Given the description of an element on the screen output the (x, y) to click on. 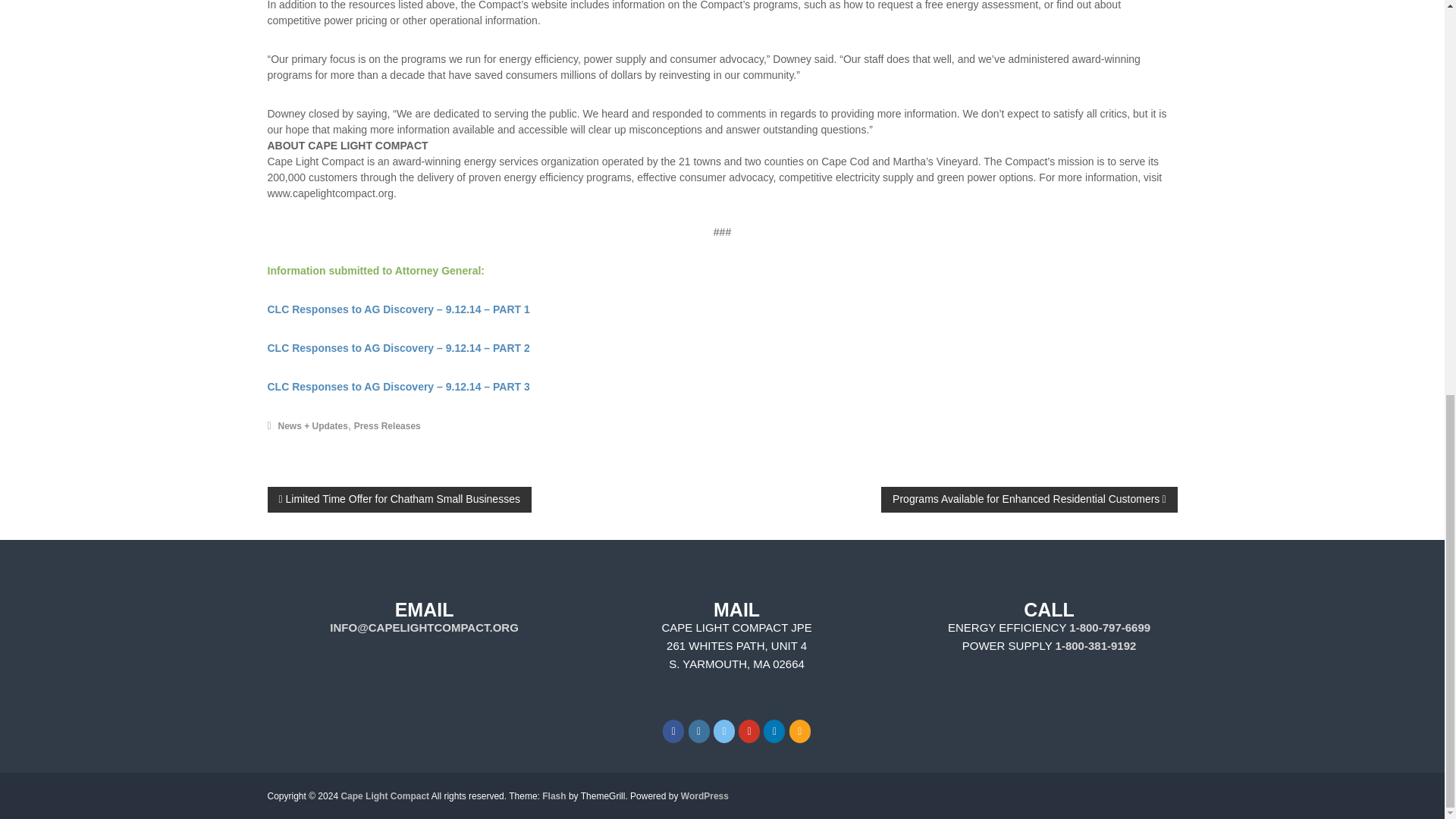
Cape Light Compact on Rss (799, 730)
Cape Light Compact on Facebook (673, 730)
LinkedIn (773, 730)
Cape Light Compact on Instagram (699, 730)
Cape Light Compact on X Twitter (724, 730)
Youtube (749, 730)
